Given the description of an element on the screen output the (x, y) to click on. 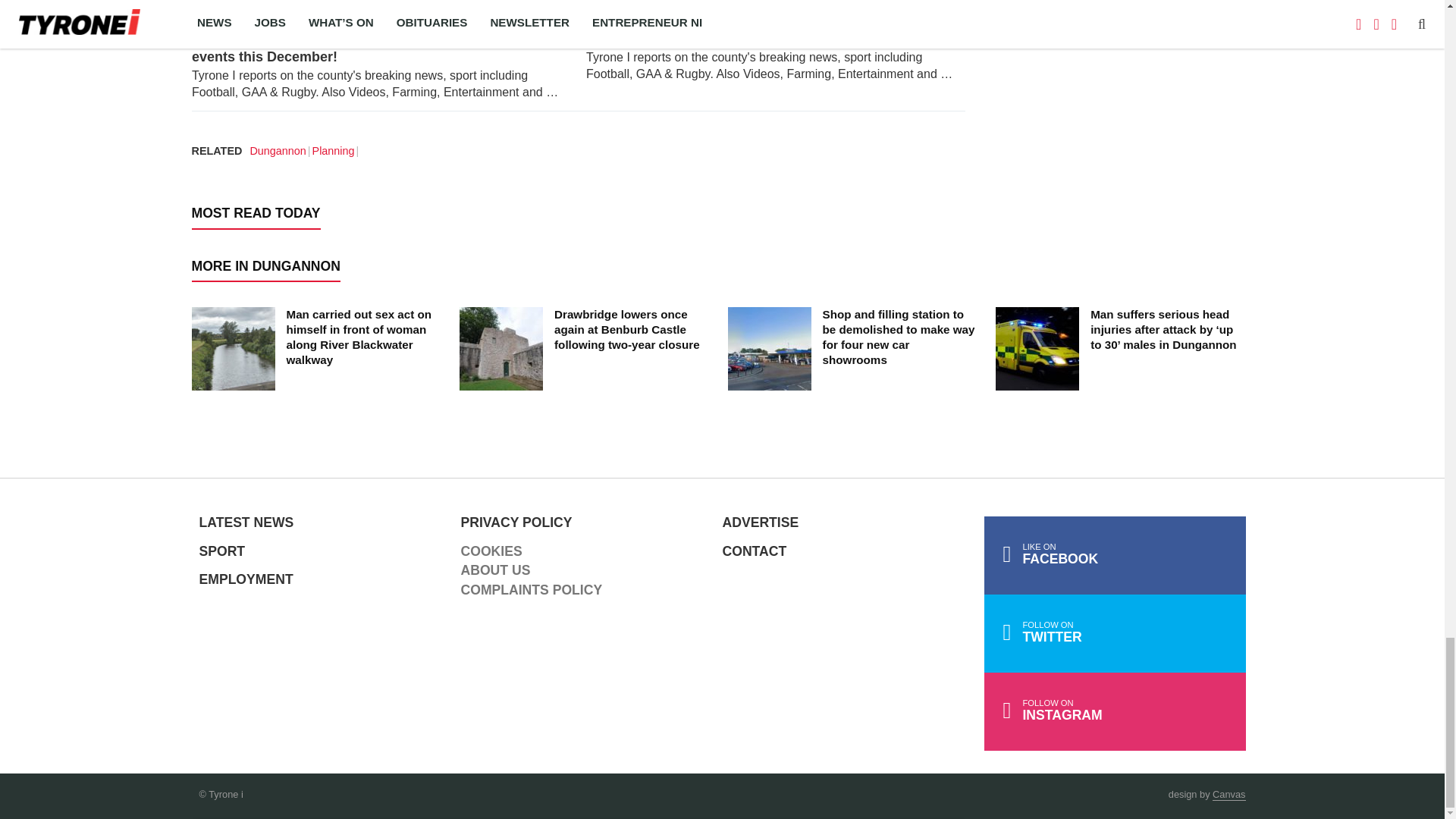
Facebook (1115, 555)
Twitter (1115, 633)
